Given the description of an element on the screen output the (x, y) to click on. 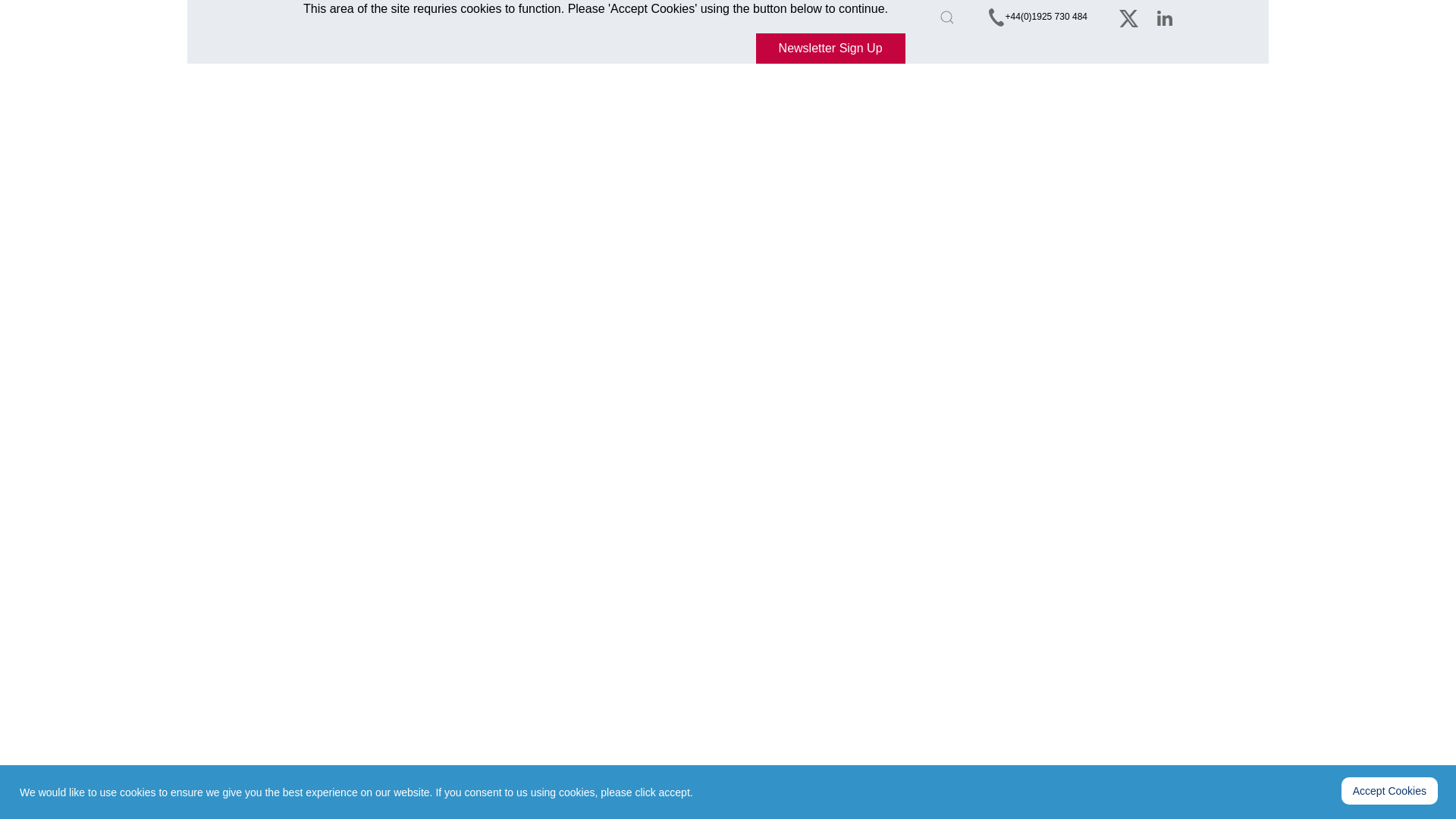
Search (947, 17)
Newsletter Sign Up (830, 48)
LinkedIn (1164, 18)
Follow us on LinkedIn (1164, 18)
x (1128, 18)
Follow us on X (1128, 18)
